Given the description of an element on the screen output the (x, y) to click on. 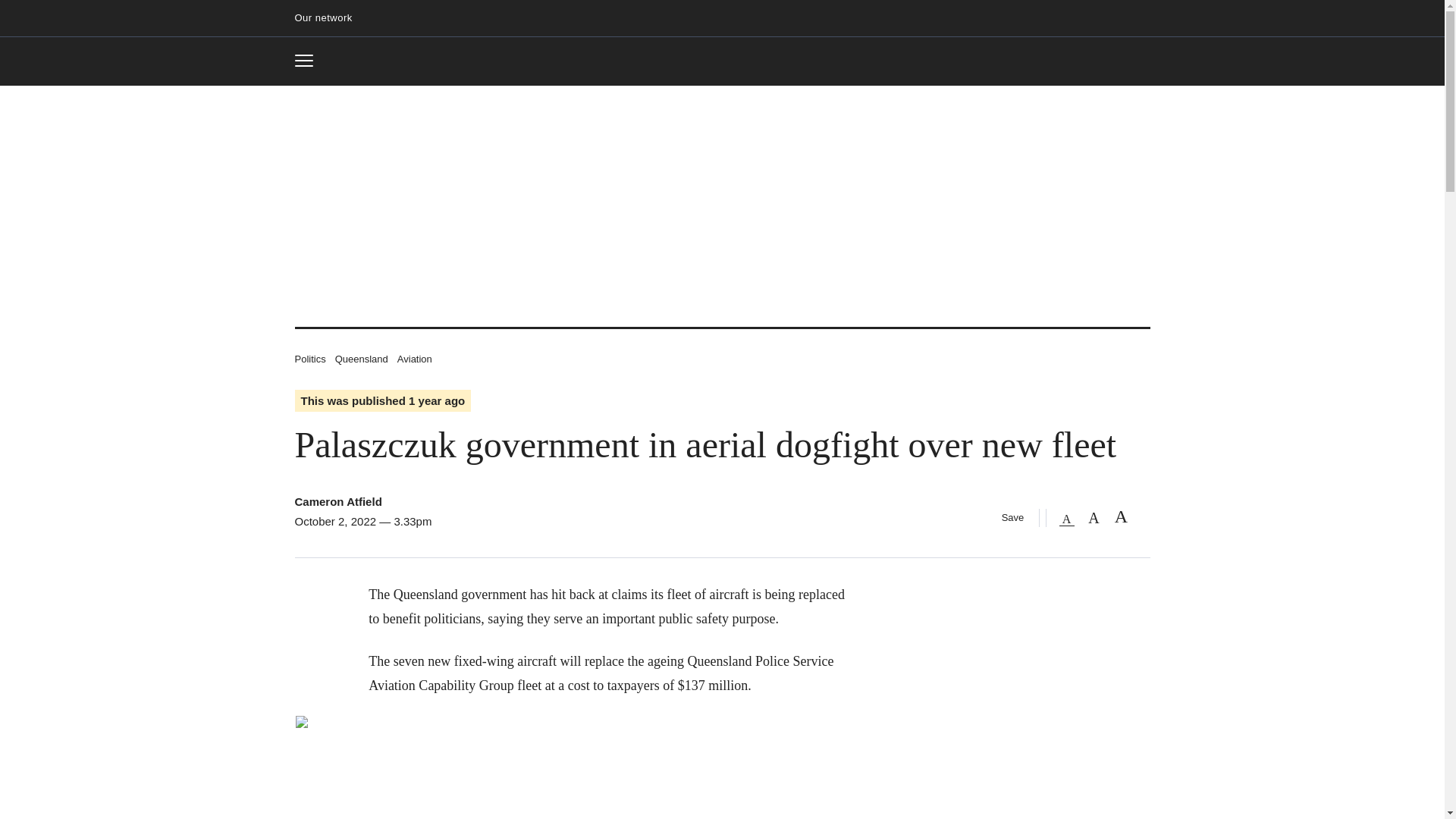
Queensland (361, 358)
Politics (309, 358)
Brisbane Times (722, 61)
Articles by Cameron Atfield (309, 60)
Aviation (337, 501)
Our network (414, 358)
